Given the description of an element on the screen output the (x, y) to click on. 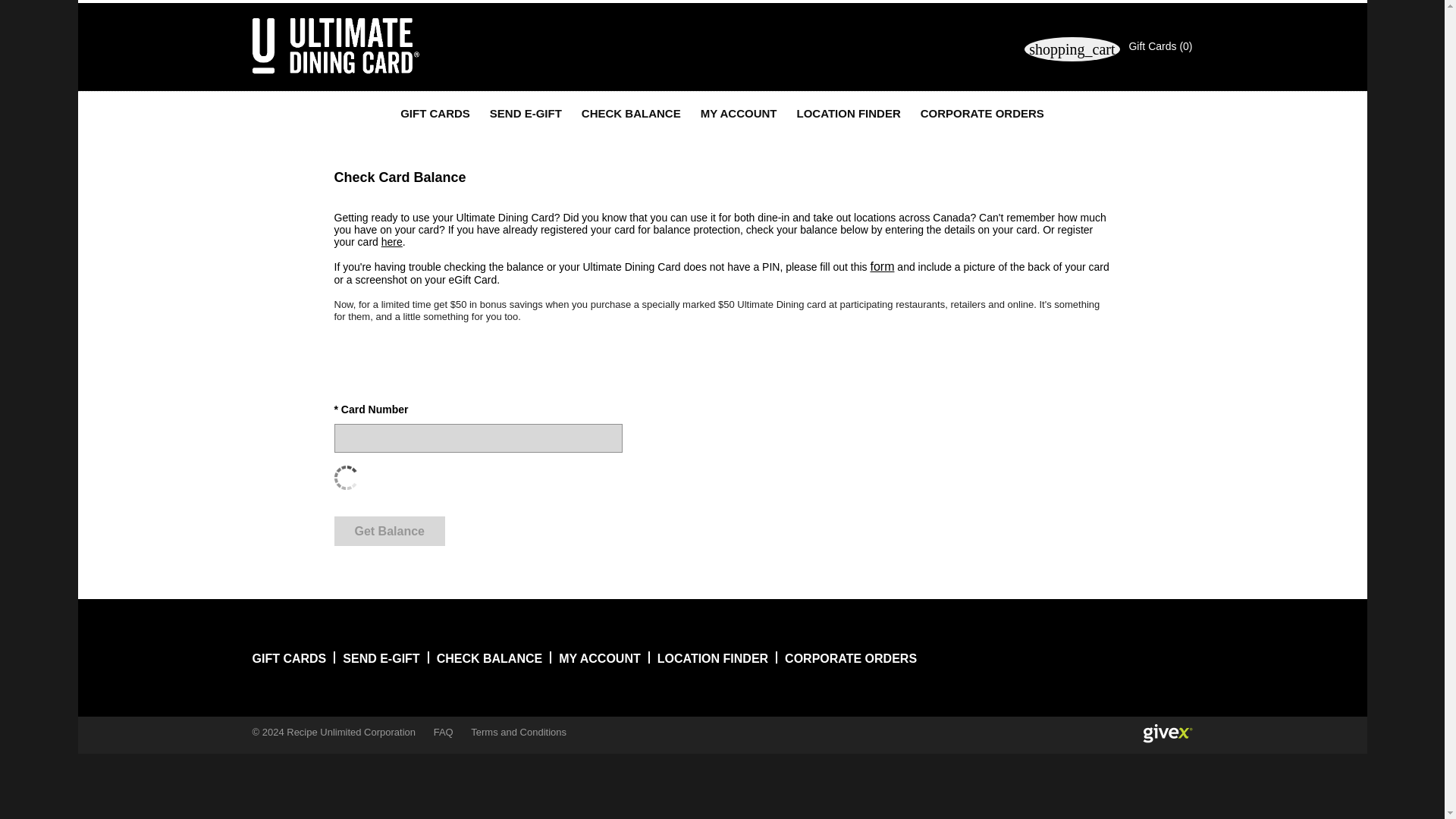
LinkedIn (1175, 657)
Facebook (1115, 657)
CHECK BALANCE (630, 114)
LOCATION FINDER (848, 114)
here (392, 241)
Home (335, 45)
GIFT CARDS (435, 114)
Givex Website (1166, 732)
MY ACCOUNT (738, 114)
SEND E-GIFT (525, 114)
CORPORATE ORDERS (981, 114)
Instagram (1146, 657)
